Given the description of an element on the screen output the (x, y) to click on. 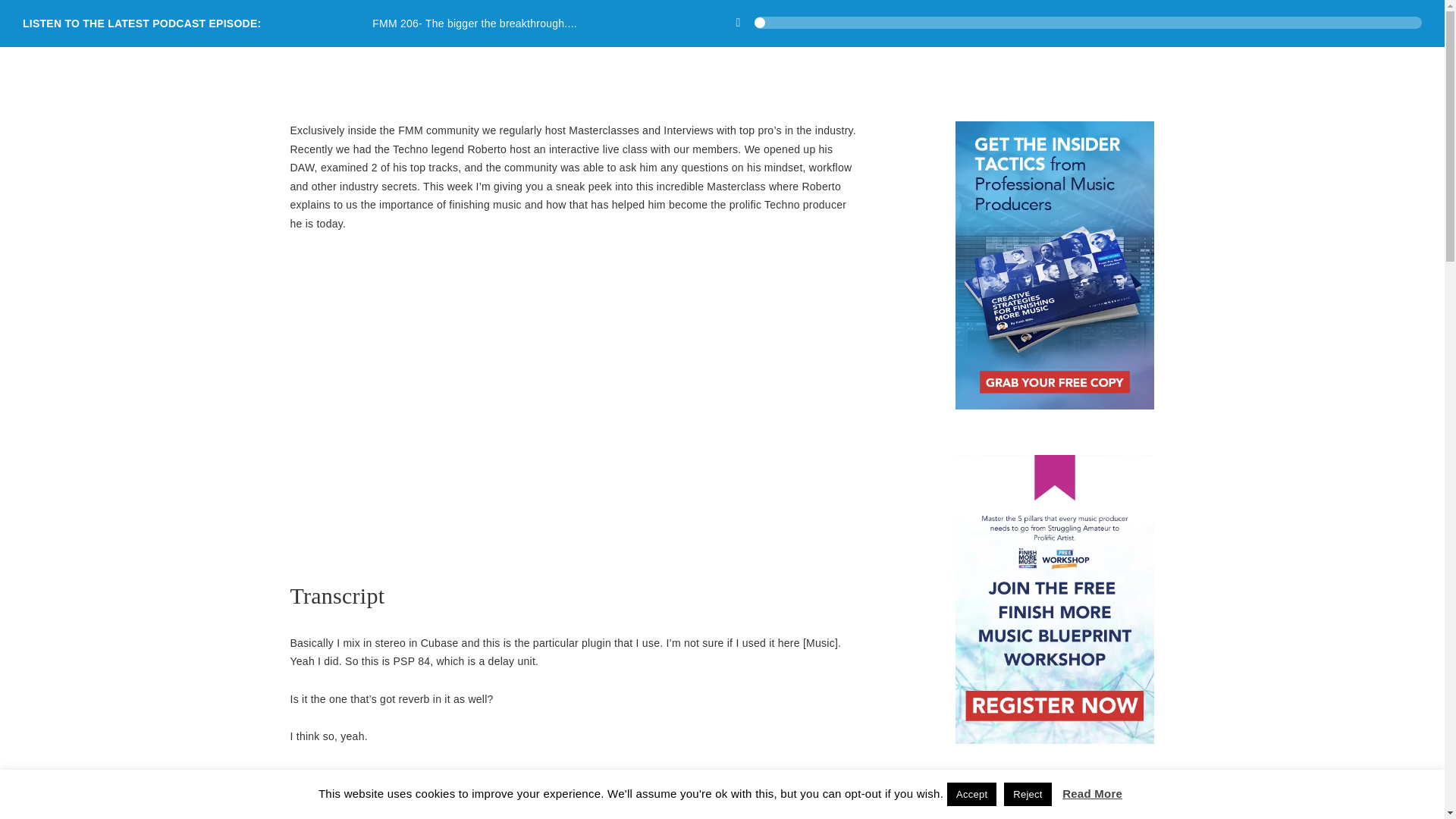
VIDEO BLOG (1127, 67)
PODCAST (1222, 67)
Finish More Music (171, 85)
ABOUT (1299, 67)
FMM MEMBERSHIP (1005, 67)
Read More (1092, 793)
LOGIN (1366, 67)
Reject (1027, 793)
Accept (971, 793)
SHOP (905, 67)
